Given the description of an element on the screen output the (x, y) to click on. 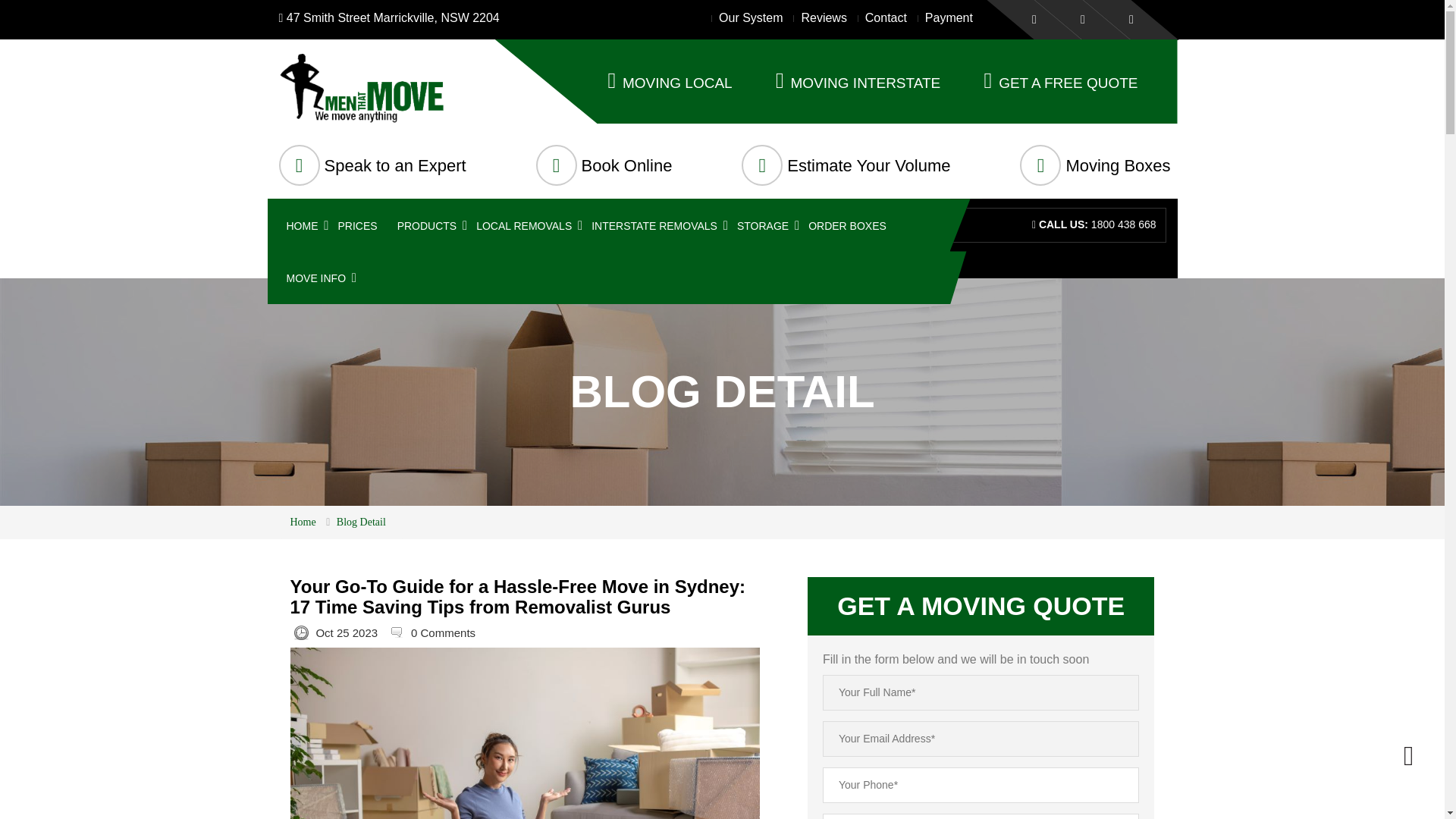
get removalists quote (1061, 82)
moving system (751, 17)
Estimate Your Volume (868, 165)
moving prices (357, 221)
GET A FREE QUOTE (1061, 82)
MOVING LOCAL (669, 82)
Our System (751, 17)
HOME (302, 221)
INTERSTATE REMOVALS (654, 221)
get a quote (868, 165)
Contact a removalists expert (394, 165)
Testimonials  Men that Move (822, 17)
MOVING INTERSTATE (858, 82)
Reviews (822, 17)
PRICES (357, 221)
